Given the description of an element on the screen output the (x, y) to click on. 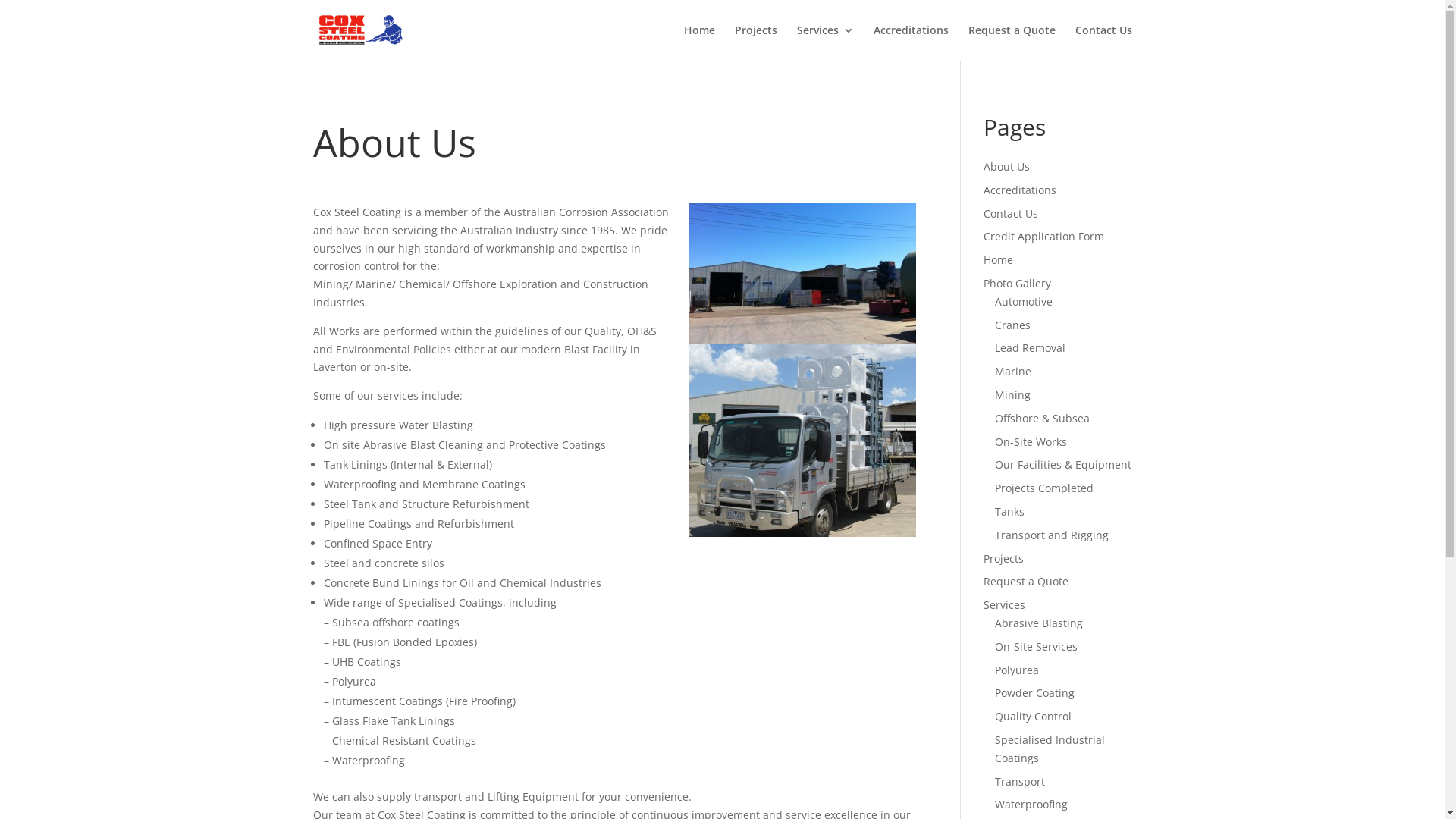
Transport Element type: text (1019, 781)
Accreditations Element type: text (910, 42)
Cox Coating, Laverton Yard Element type: hover (802, 273)
Request a Quote Element type: text (1025, 581)
Services Element type: text (824, 42)
Credit Application Form Element type: text (1043, 236)
Cox Coating Truck Element type: hover (802, 439)
Transport and Rigging Element type: text (1051, 534)
Polyurea Element type: text (1016, 669)
Abrasive Blasting Element type: text (1038, 622)
Mining Element type: text (1012, 394)
Cranes Element type: text (1012, 324)
Quality Control Element type: text (1032, 716)
Projects Element type: text (755, 42)
On-Site Works Element type: text (1030, 441)
Our Facilities & Equipment Element type: text (1062, 464)
Projects Element type: text (1003, 558)
Home Element type: text (998, 259)
Contact Us Element type: text (1010, 213)
Tanks Element type: text (1009, 511)
Offshore & Subsea Element type: text (1041, 418)
Projects Completed Element type: text (1043, 487)
Services Element type: text (1004, 604)
Automotive Element type: text (1023, 301)
Lead Removal Element type: text (1029, 347)
Accreditations Element type: text (1019, 189)
Contact Us Element type: text (1103, 42)
Photo Gallery Element type: text (1017, 283)
Waterproofing Element type: text (1030, 804)
On-Site Services Element type: text (1035, 646)
About Us Element type: text (1006, 166)
Marine Element type: text (1012, 371)
Specialised Industrial Coatings Element type: text (1049, 748)
Powder Coating Element type: text (1034, 692)
Home Element type: text (699, 42)
Request a Quote Element type: text (1010, 42)
